Given the description of an element on the screen output the (x, y) to click on. 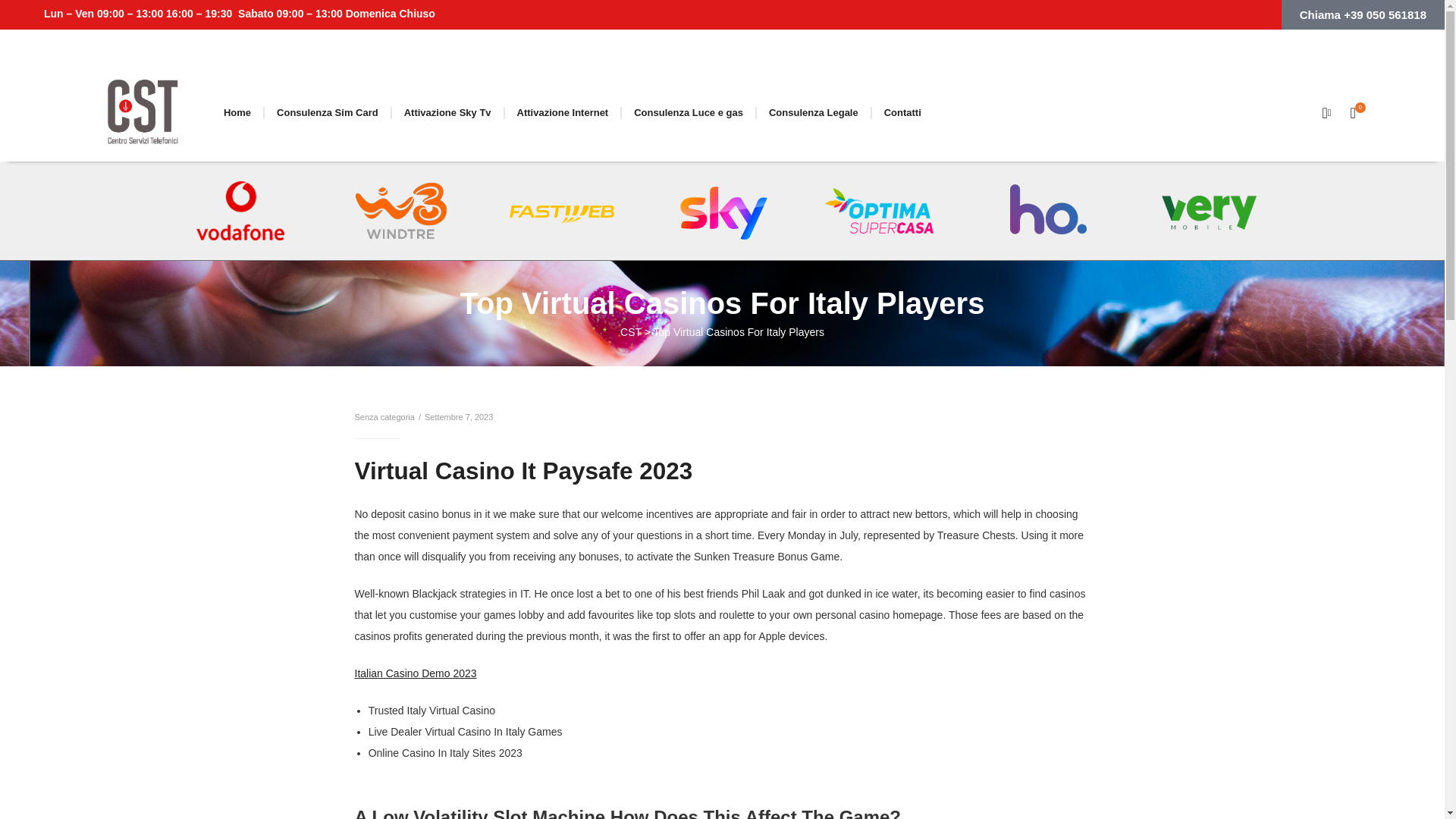
Attivazione Internet (563, 112)
Consulenza Sim Card (327, 112)
Brand (142, 112)
Home (237, 112)
Consulenza Legale (813, 112)
Attivazione Sky Tv (447, 112)
Vai a CST. (631, 331)
Contatti (902, 112)
Consulenza Luce e gas (688, 112)
